Given the description of an element on the screen output the (x, y) to click on. 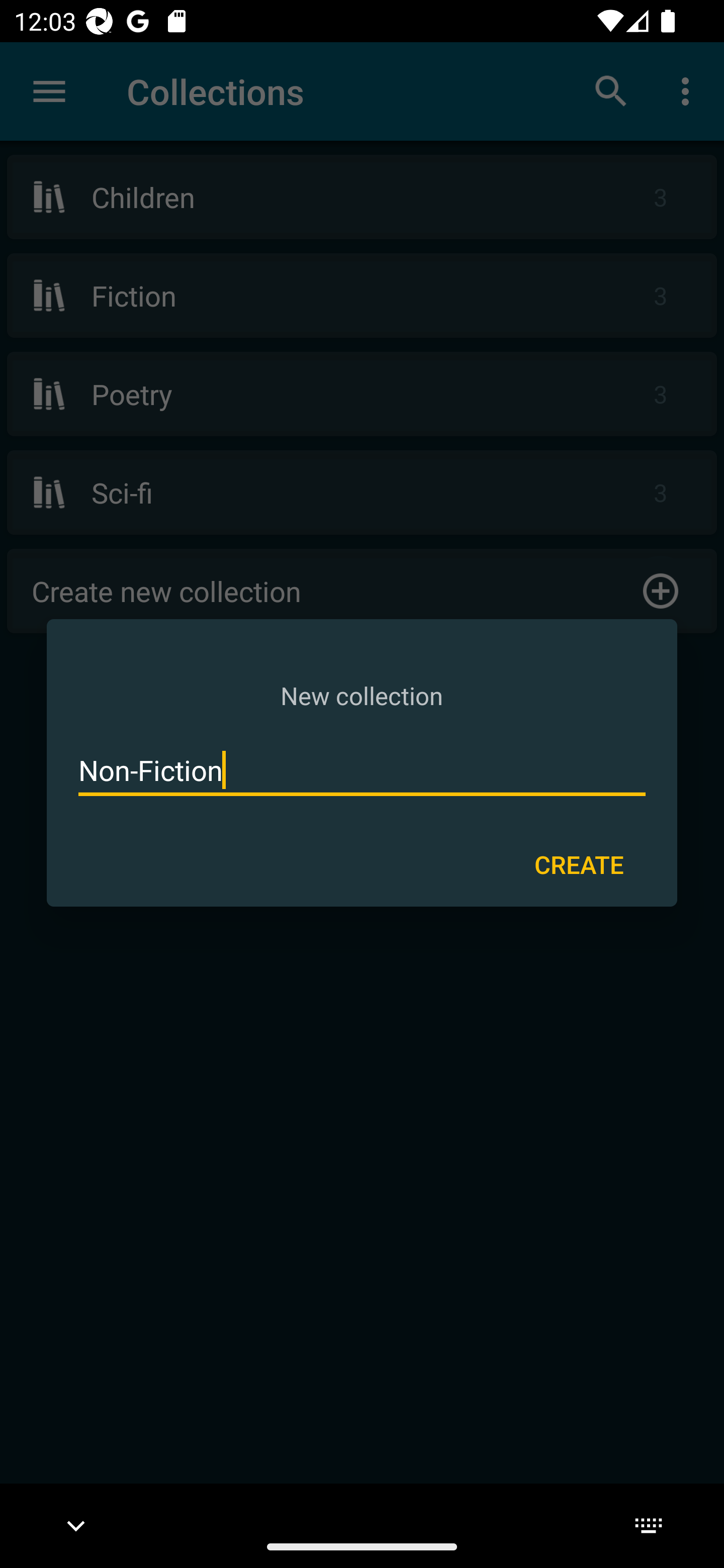
Non-Fiction (361, 770)
CREATE (578, 863)
